Given the description of an element on the screen output the (x, y) to click on. 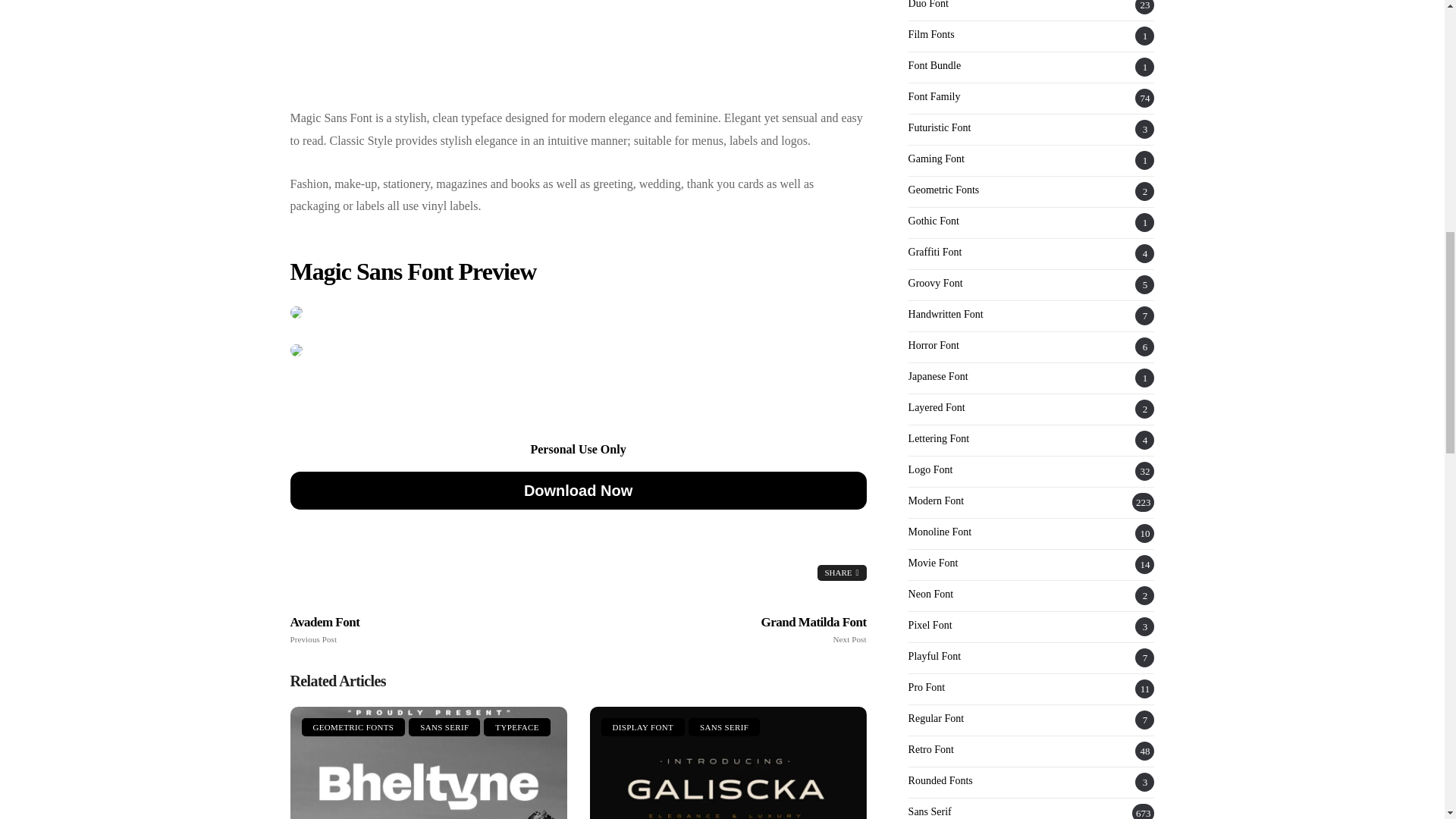
Bheltyne Font (751, 630)
Download Now (427, 762)
Galiscka Font (577, 490)
Advertisement (727, 762)
SANS SERIF (577, 50)
TYPEFACE (444, 727)
GEOMETRIC FONTS (404, 630)
SANS SERIF (516, 727)
DISPLAY FONT (353, 727)
